Given the description of an element on the screen output the (x, y) to click on. 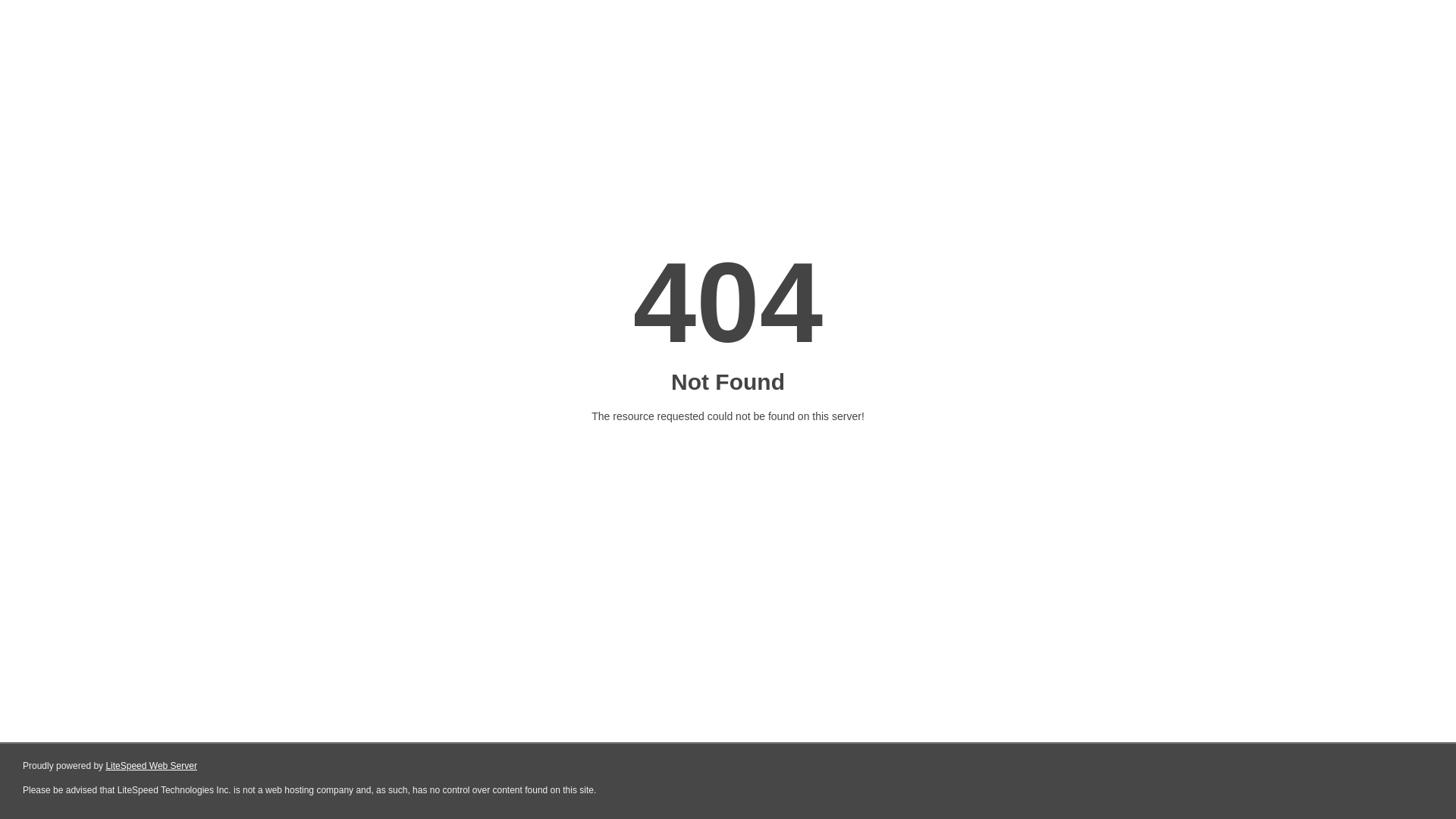
LiteSpeed Web Server Element type: text (151, 765)
